Given the description of an element on the screen output the (x, y) to click on. 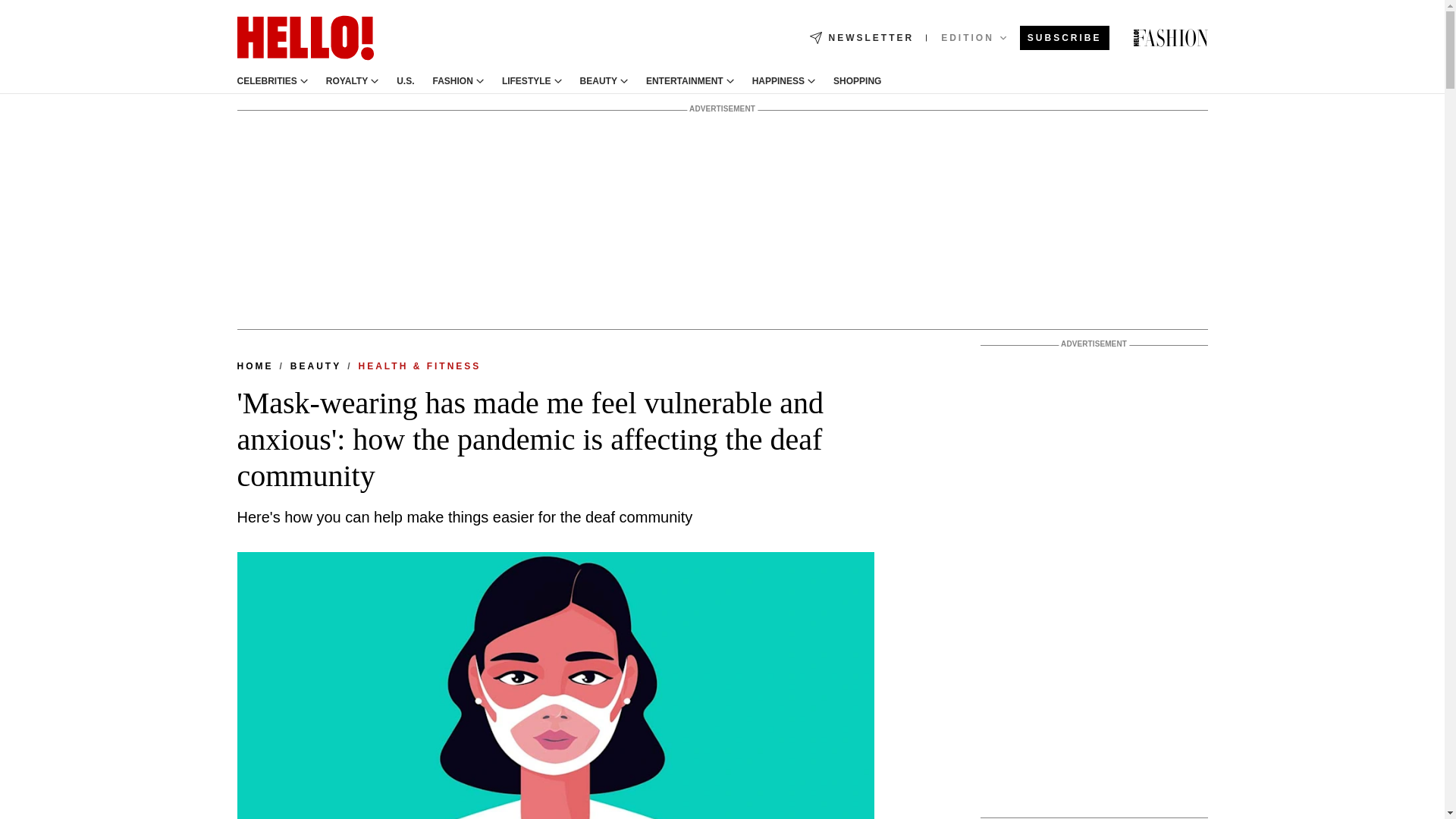
CELEBRITIES (266, 81)
FASHION (452, 81)
U.S. (404, 81)
NEWSLETTER (861, 38)
BEAUTY (598, 81)
ROYALTY (347, 81)
